Given the description of an element on the screen output the (x, y) to click on. 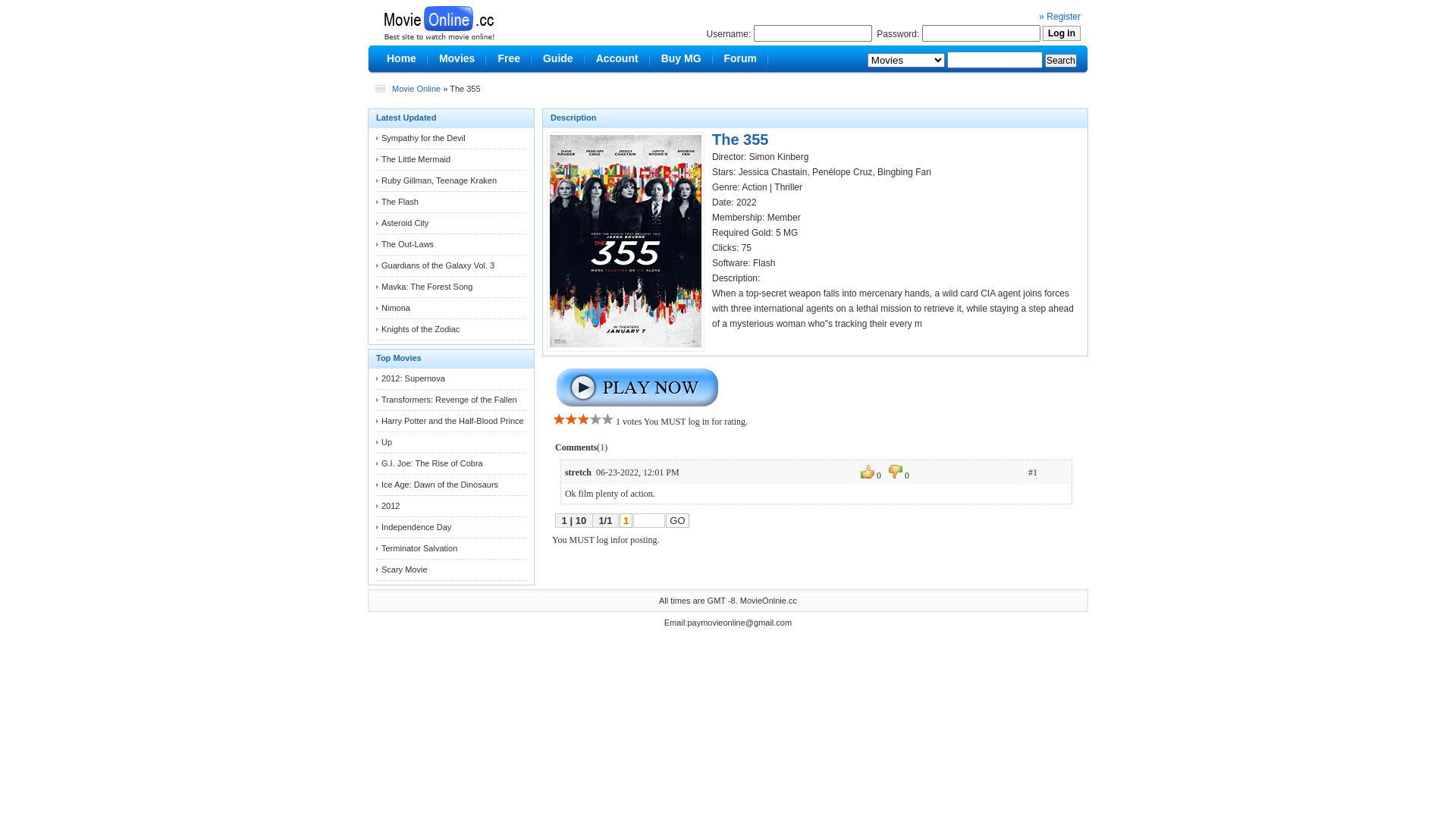
Knights of the Zodiac Element type: text (420, 328)
Up Element type: text (386, 441)
Ruby Gillman, Teenage Kraken Element type: text (438, 180)
The 355,Movie Online Element type: hover (438, 20)
Harry Potter and the Half-Blood Prince Element type: text (452, 420)
Nimona Element type: text (395, 307)
The Out-Laws Element type: text (407, 243)
Guardians of the Galaxy Vol. 3 Element type: text (437, 264)
Ice Age: Dawn of the Dinosaurs Element type: text (439, 484)
Asteroid City Element type: text (404, 222)
2012 Element type: text (390, 505)
Forum Element type: text (740, 58)
Terminator Salvation Element type: text (419, 547)
Free Element type: text (508, 58)
Mavka: The Forest Song Element type: text (426, 286)
The Little Mermaid Element type: text (415, 158)
Scary Movie Element type: text (404, 569)
Log in Element type: text (1061, 32)
Guide Element type: text (557, 58)
Sympathy for the Devil Element type: text (423, 137)
Movies Element type: text (456, 58)
Movie Online Element type: text (416, 88)
2012: Supernova Element type: text (413, 377)
Buy MG Element type: text (681, 58)
The Flash Element type: text (399, 201)
Transformers: Revenge of the Fallen Element type: text (449, 399)
Search Element type: text (1060, 60)
Home Element type: text (401, 58)
G.I. Joe: The Rise of Cobra Element type: text (432, 462)
Independence Day Element type: text (416, 526)
Action Element type: text (753, 187)
Account Element type: text (617, 58)
Thriller Element type: text (788, 187)
